Given the description of an element on the screen output the (x, y) to click on. 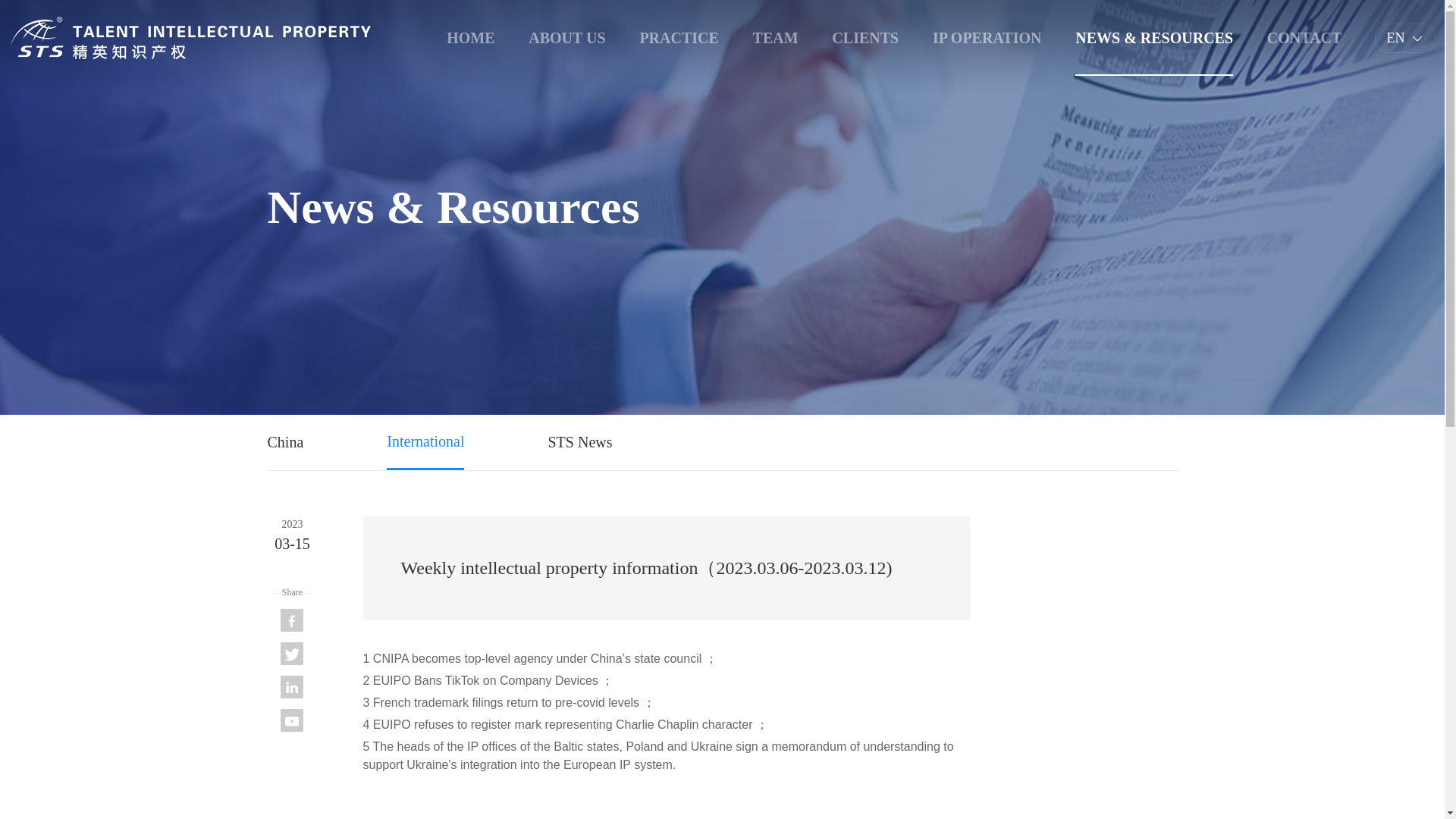
CONTACT (1304, 38)
Facebook (290, 620)
PRACTICE (678, 38)
Twitter (290, 653)
LinkedIn (290, 686)
IP OPERATION (987, 38)
ABOUT US (566, 38)
youtube (290, 720)
